Given the description of an element on the screen output the (x, y) to click on. 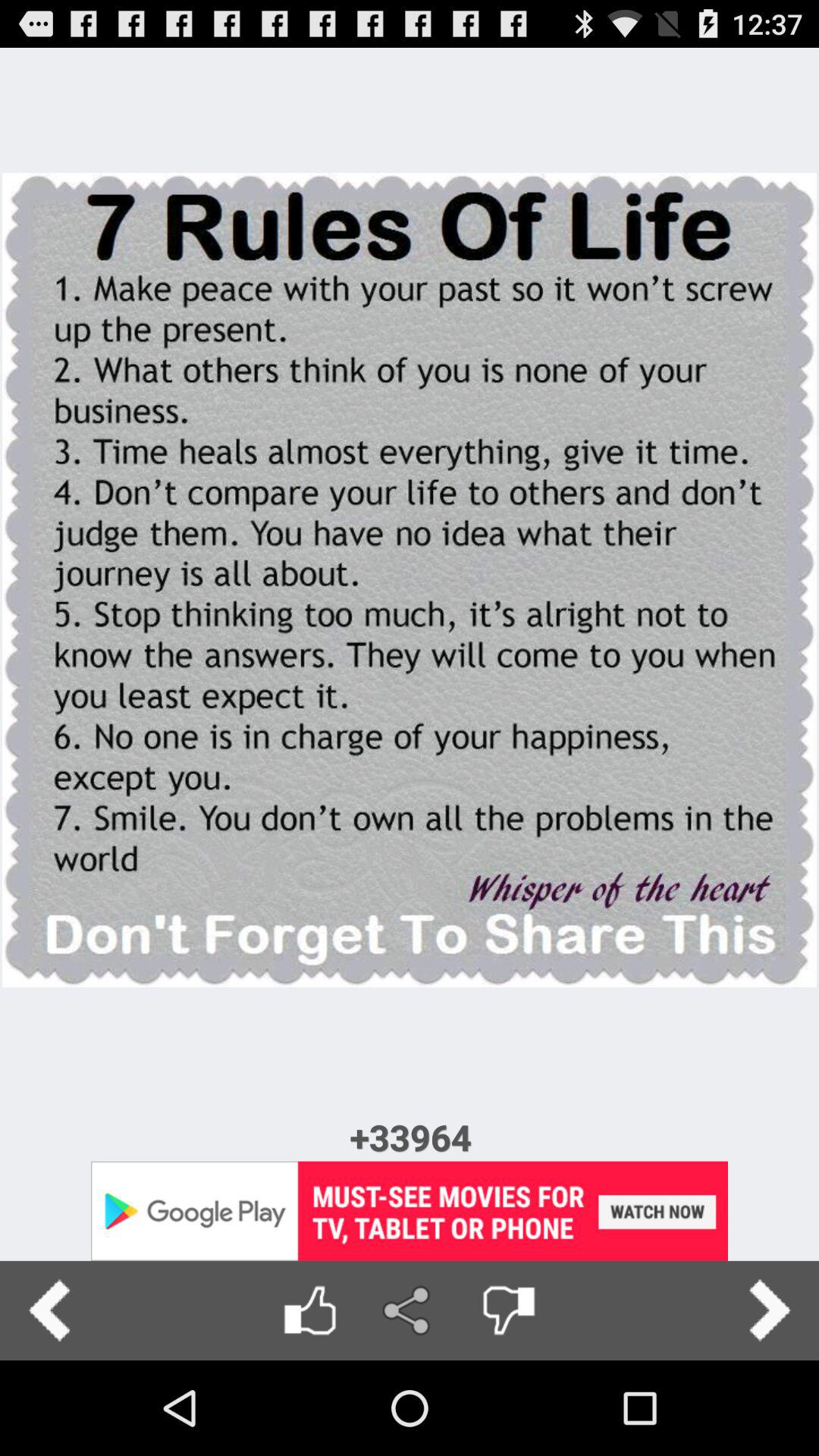
go next (769, 1310)
